Given the description of an element on the screen output the (x, y) to click on. 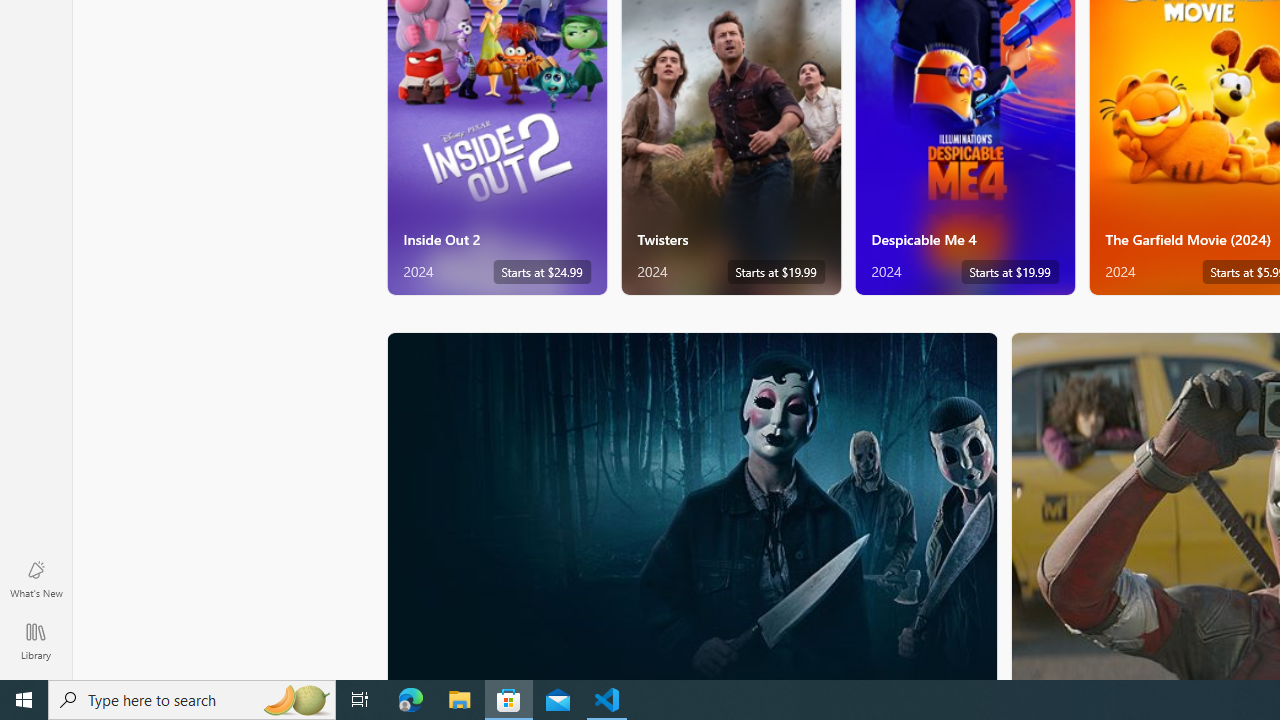
Library (35, 640)
Horror (692, 505)
AutomationID: PosterImage (690, 505)
What's New (35, 578)
